Given the description of an element on the screen output the (x, y) to click on. 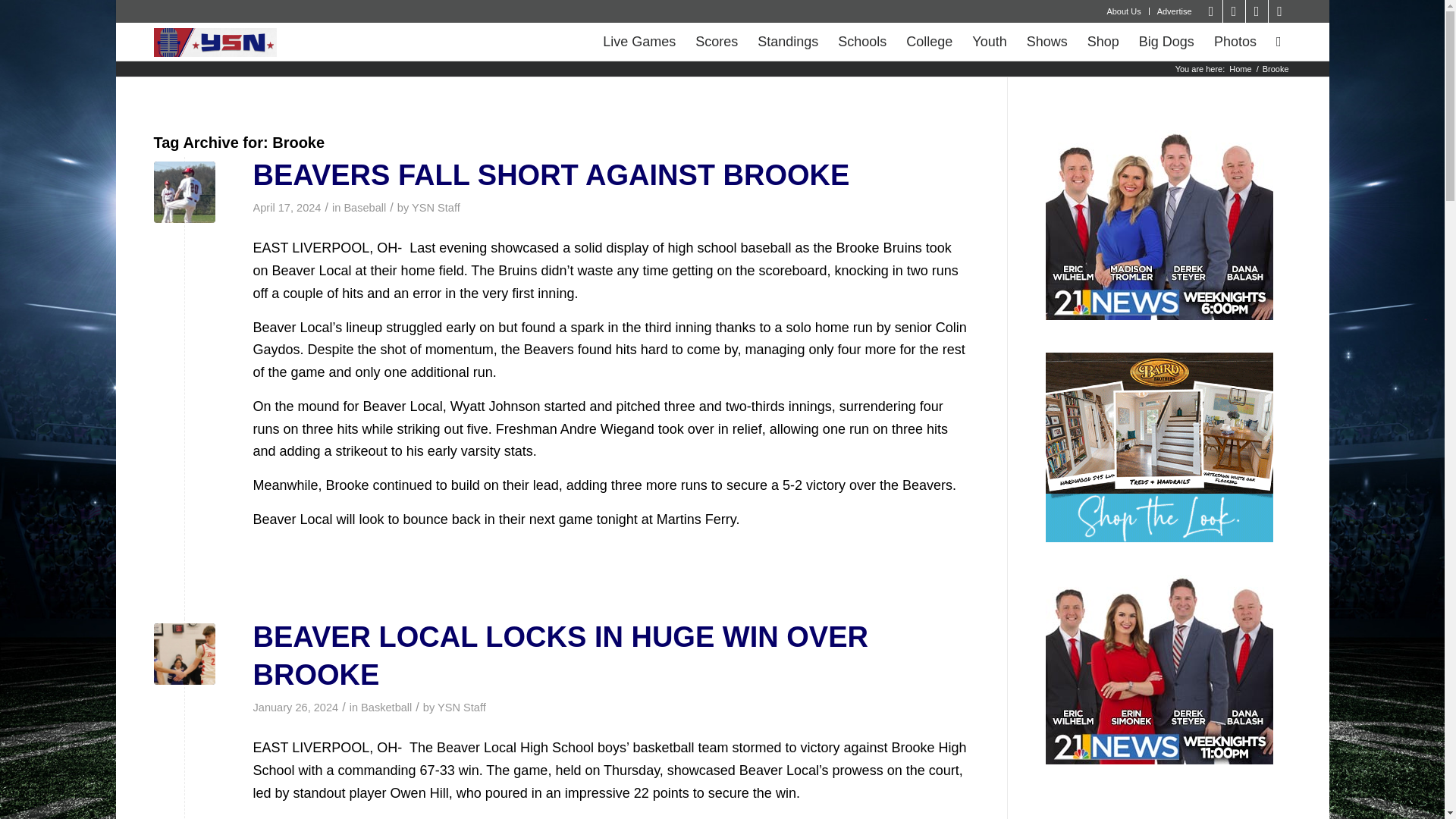
About Us (1123, 11)
Posts by YSN Staff (462, 707)
Schools (862, 41)
PHOTO CREDIT: JOSH SIGLER (183, 191)
Live Games (638, 41)
Permanent Link: BEAVERS FALL SHORT AGAINST BROOKE (551, 174)
Scores (716, 41)
Standings (788, 41)
Posts by YSN Staff (436, 207)
Advertise (1174, 11)
Permanent Link: BEAVER LOCAL LOCKS IN HUGE WIN OVER BROOKE (560, 655)
